Given the description of an element on the screen output the (x, y) to click on. 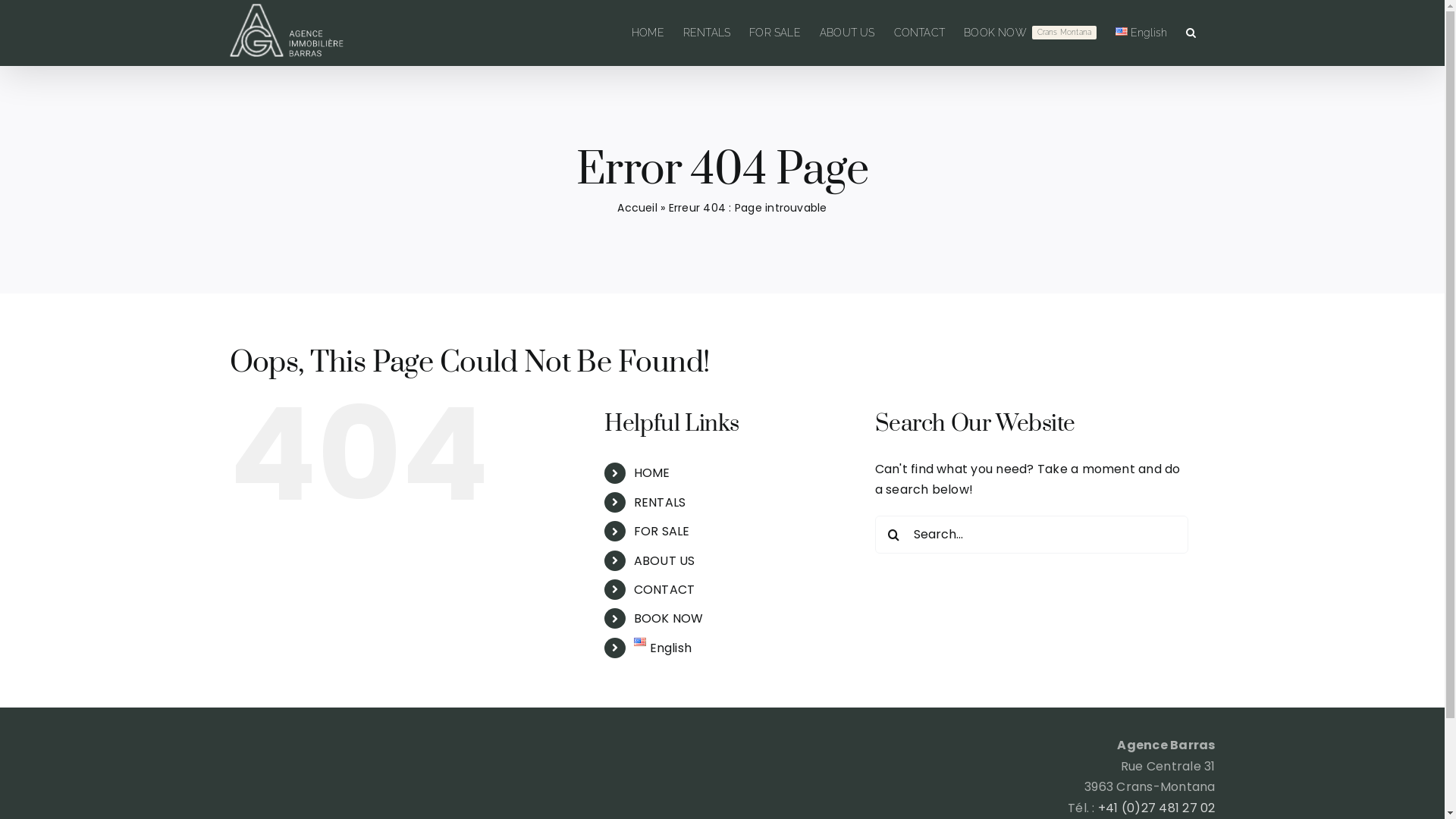
ABOUT US Element type: text (847, 32)
Search Element type: hover (1190, 32)
RENTALS Element type: text (659, 502)
BOOK NOW
Crans Montana Element type: text (1029, 32)
Accueil Element type: text (637, 207)
HOME Element type: text (647, 32)
RENTALS Element type: text (706, 32)
English Element type: text (662, 647)
FOR SALE Element type: text (661, 530)
BOOK NOW Element type: text (668, 618)
CONTACT Element type: text (919, 32)
FOR SALE Element type: text (774, 32)
ABOUT US Element type: text (664, 560)
CONTACT Element type: text (664, 589)
+41 (0)27 481 27 02 Element type: text (1156, 807)
English Element type: text (1141, 32)
HOME Element type: text (651, 472)
